Given the description of an element on the screen output the (x, y) to click on. 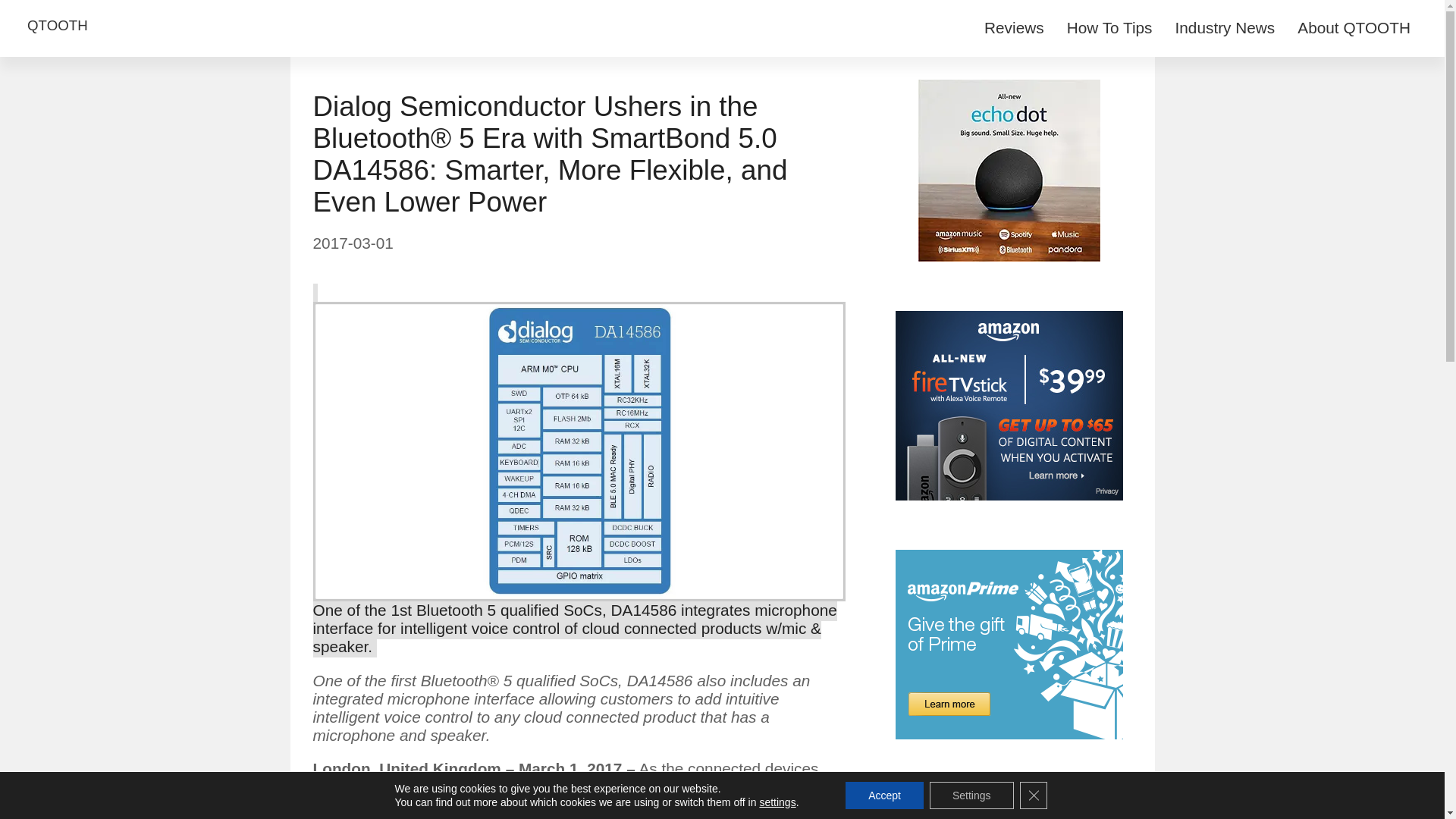
Close GDPR Cookie Banner (1033, 795)
Accept (884, 795)
Settings (971, 795)
QTOOTH (58, 26)
Reviews (1013, 28)
About QTOOTH (1353, 28)
How To Tips (1109, 28)
Industry News (1225, 28)
settings (776, 802)
